Given the description of an element on the screen output the (x, y) to click on. 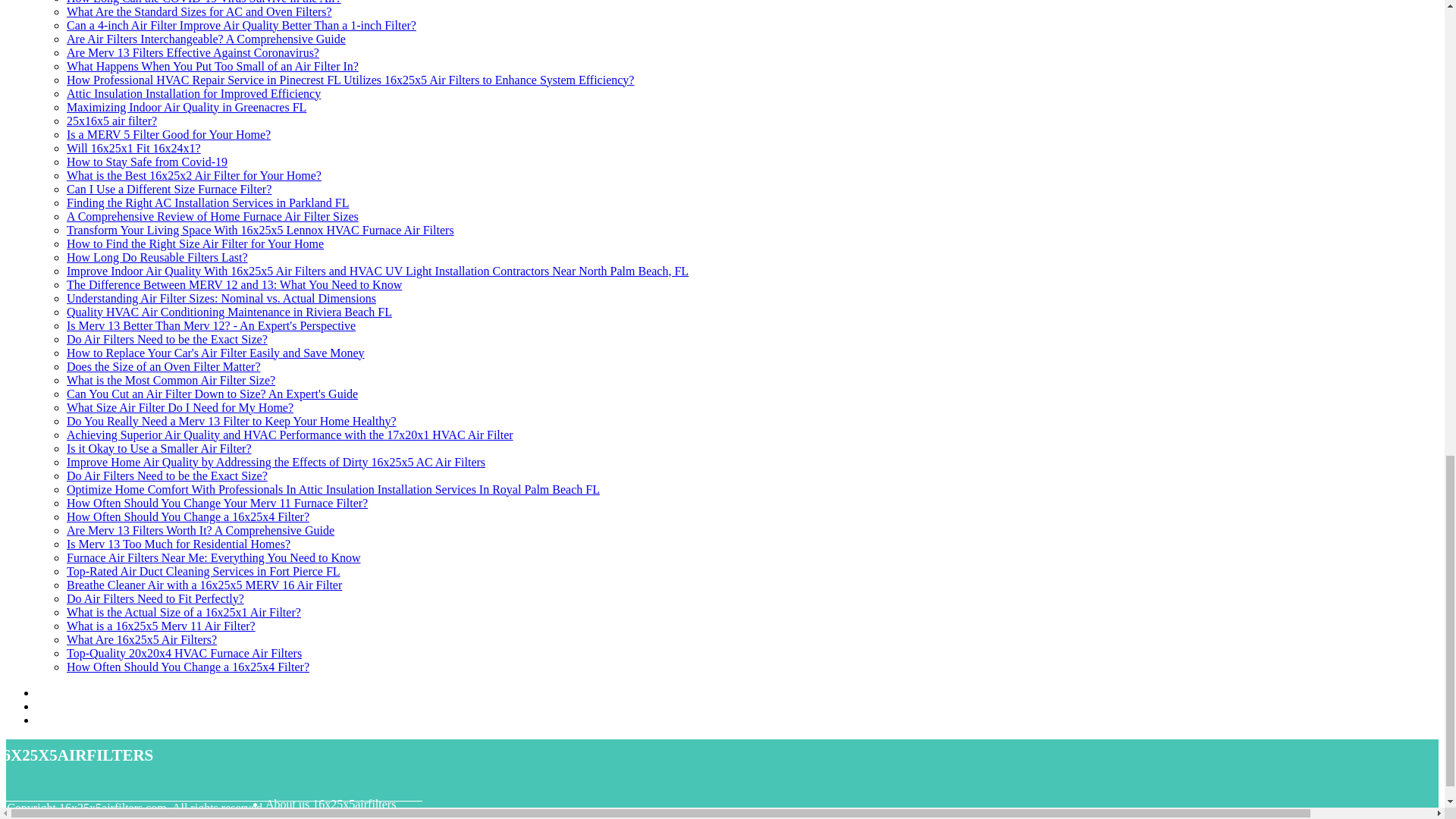
How Long Can the COVID-19 Virus Survive in the Air? (203, 2)
Are Merv 13 Filters Effective Against Coronavirus? (192, 51)
Are Air Filters Interchangeable? A Comprehensive Guide (206, 38)
25x16x5 air filter? (111, 120)
What Happens When You Put Too Small of an Air Filter In? (212, 65)
Can I Use a Different Size Furnace Filter? (168, 188)
Is a MERV 5 Filter Good for Your Home? (168, 133)
What Are the Standard Sizes for AC and Oven Filters? (198, 11)
Maximizing Indoor Air Quality in Greenacres FL (185, 106)
How to Stay Safe from Covid-19 (146, 161)
Attic Insulation Installation for Improved Efficiency (193, 92)
Will 16x25x1 Fit 16x24x1? (133, 147)
What is the Best 16x25x2 Air Filter for Your Home? (193, 174)
